Given the description of an element on the screen output the (x, y) to click on. 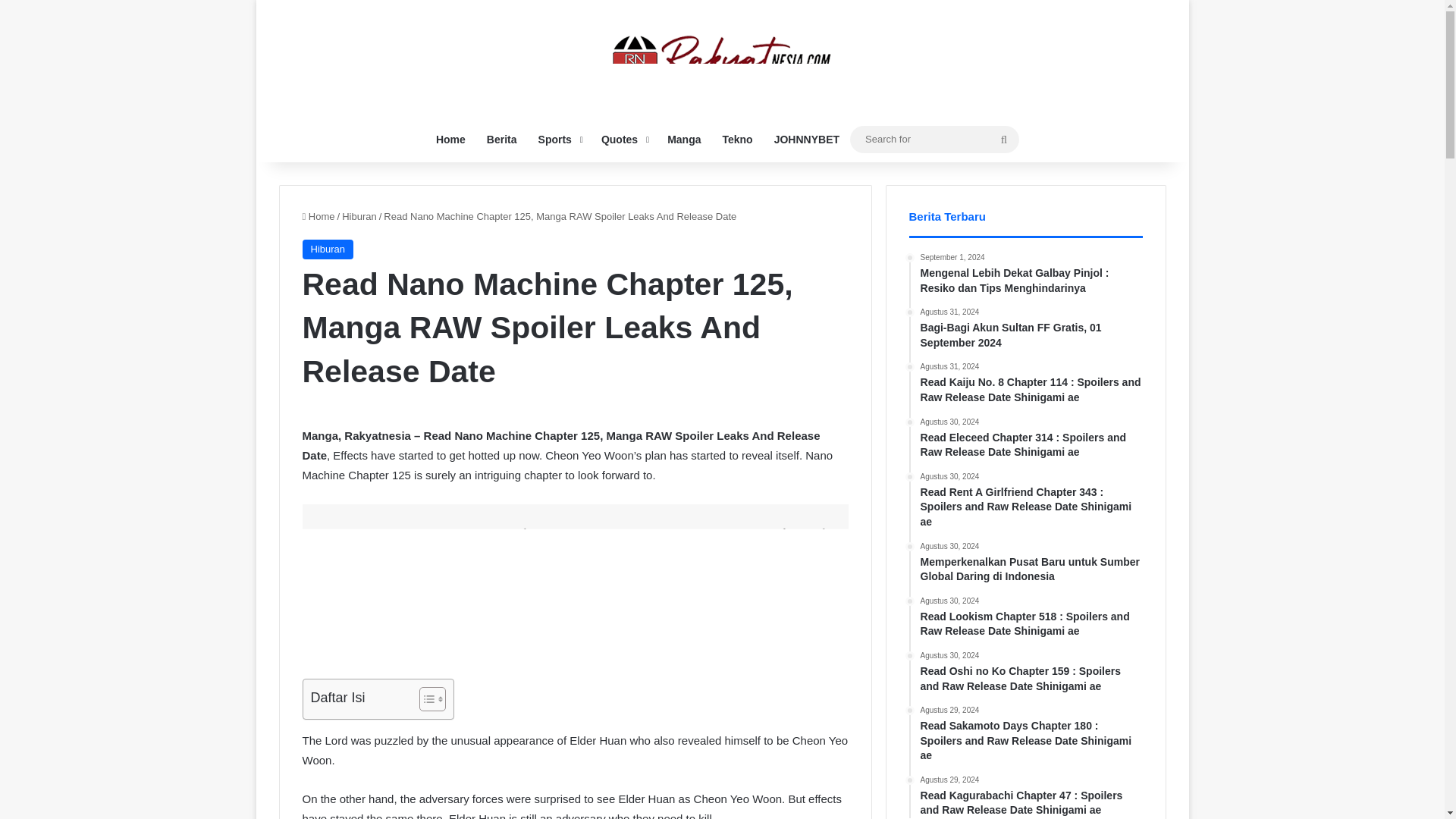
Sports (559, 139)
Home (450, 139)
Quotes (623, 139)
Berita (501, 139)
Rakyatnesia.com (721, 58)
Hiburan (359, 215)
Home (317, 215)
Tekno (736, 139)
JOHNNYBET (806, 139)
Manga (683, 139)
